Given the description of an element on the screen output the (x, y) to click on. 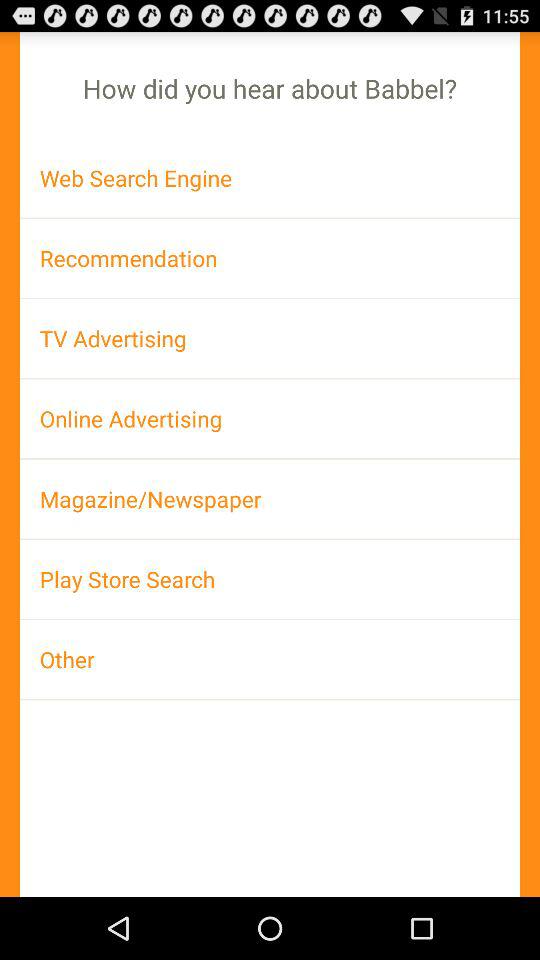
jump to recommendation app (269, 258)
